Given the description of an element on the screen output the (x, y) to click on. 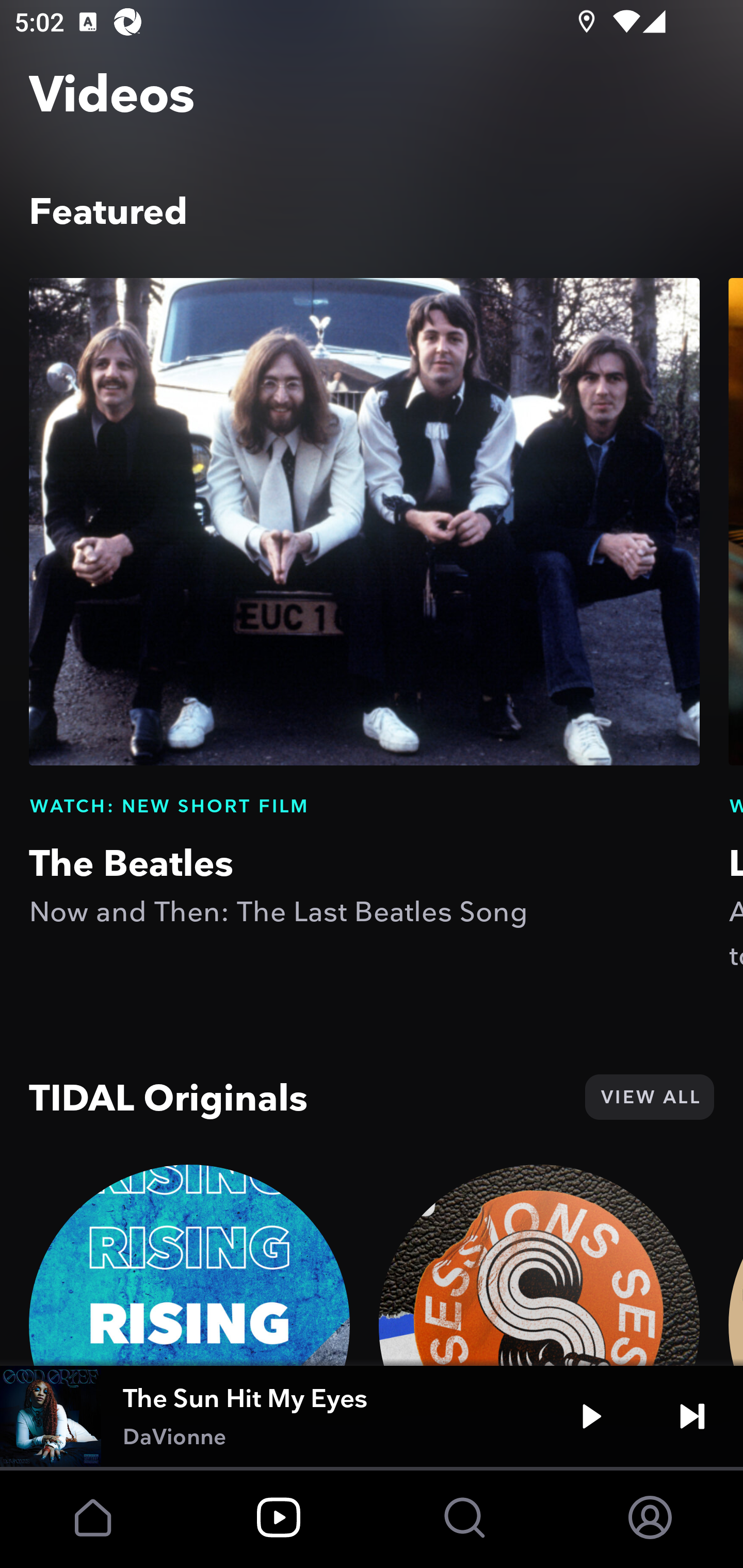
VIEW ALL (649, 1096)
The Sun Hit My Eyes DaVionne Play (371, 1416)
Play (590, 1416)
